Given the description of an element on the screen output the (x, y) to click on. 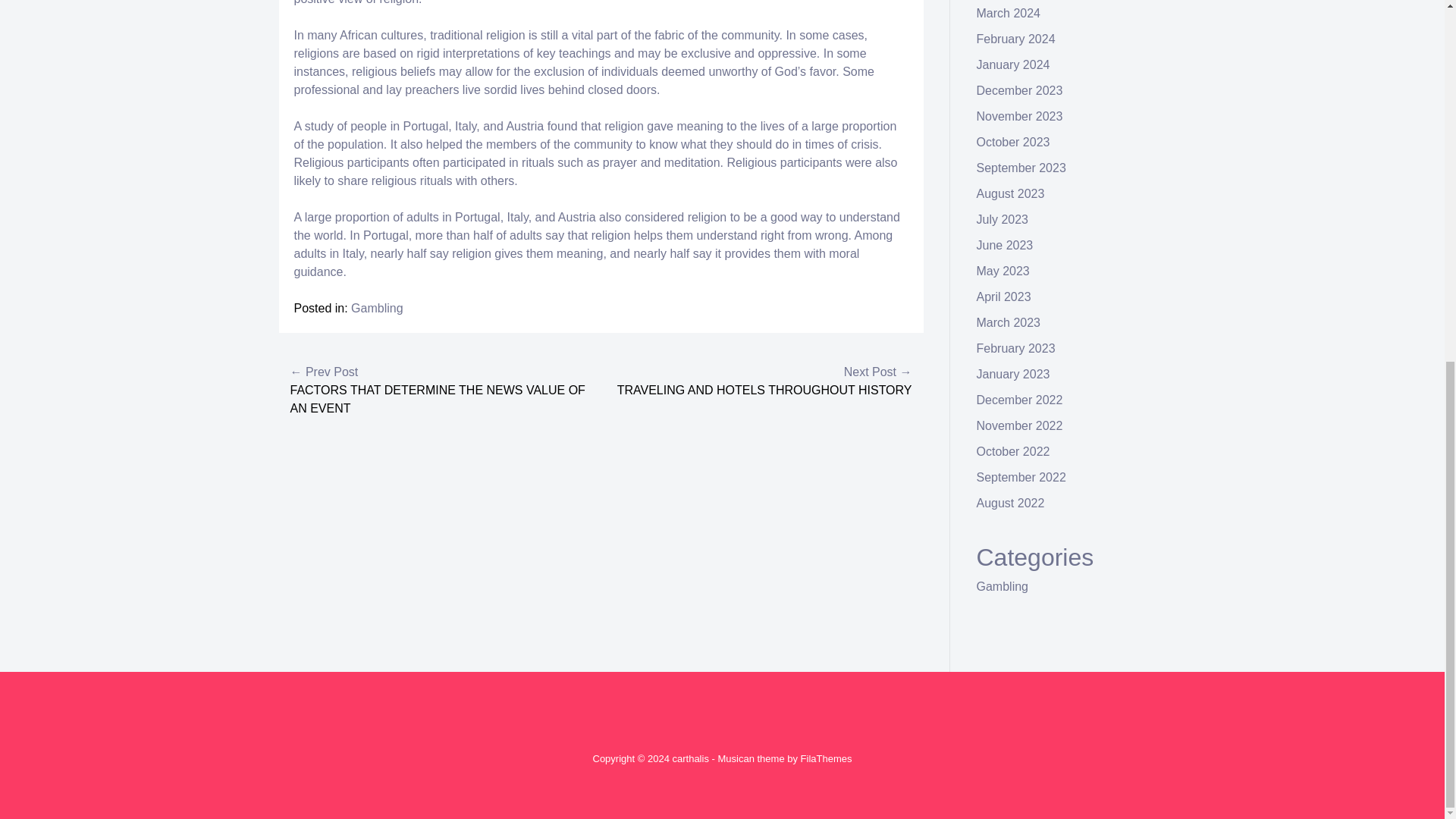
August 2022 (1010, 502)
March 2024 (1008, 12)
January 2023 (1012, 373)
July 2023 (1002, 219)
October 2023 (1012, 141)
January 2024 (1012, 64)
June 2023 (1004, 245)
October 2022 (1012, 451)
September 2023 (1020, 167)
Gambling (376, 308)
December 2022 (1019, 399)
August 2023 (1010, 193)
May 2023 (1002, 270)
carthalis (689, 758)
April 2023 (1003, 296)
